Given the description of an element on the screen output the (x, y) to click on. 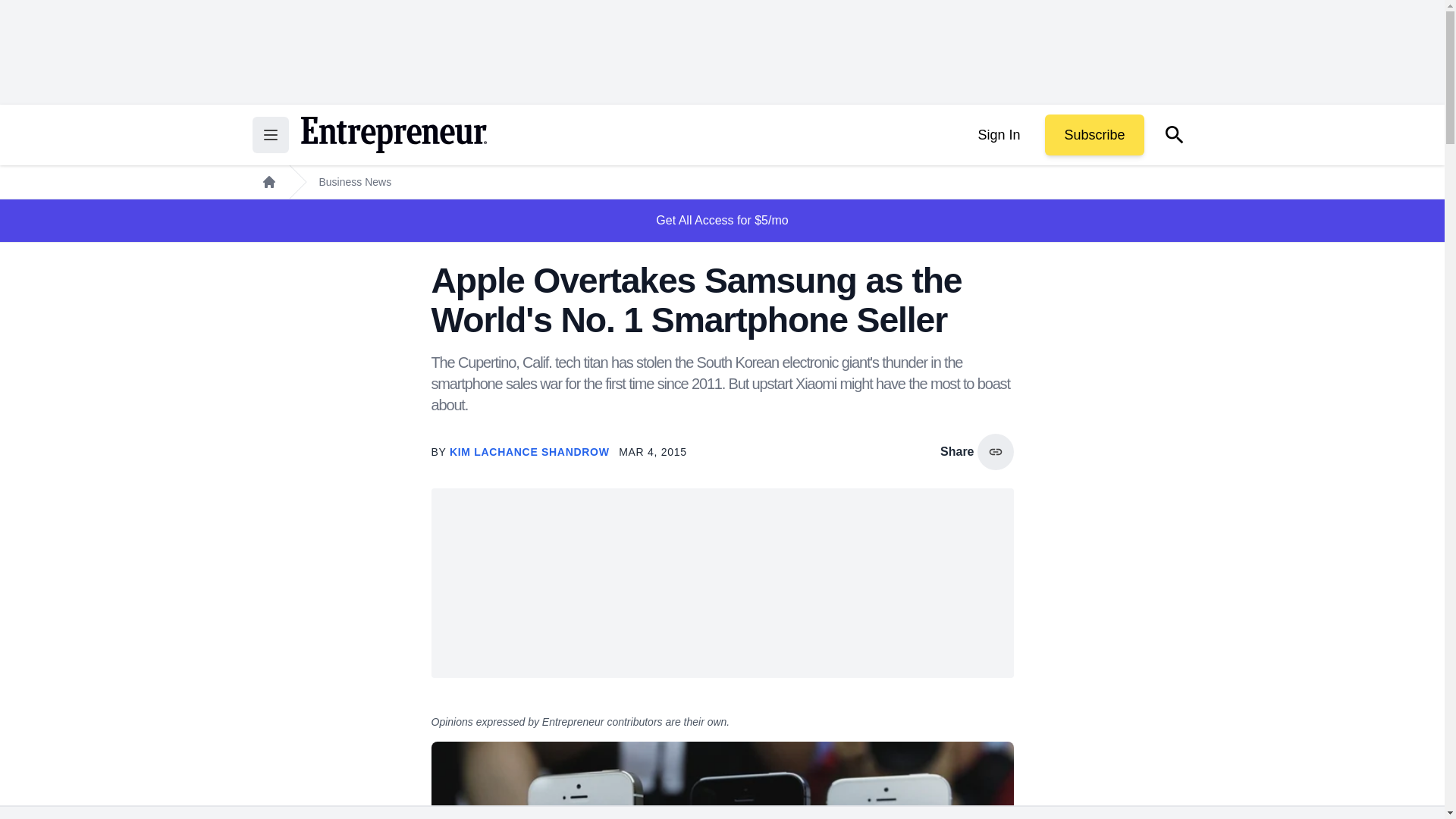
Sign In (998, 134)
copy (994, 452)
Subscribe (1093, 134)
Return to the home page (392, 135)
